Given the description of an element on the screen output the (x, y) to click on. 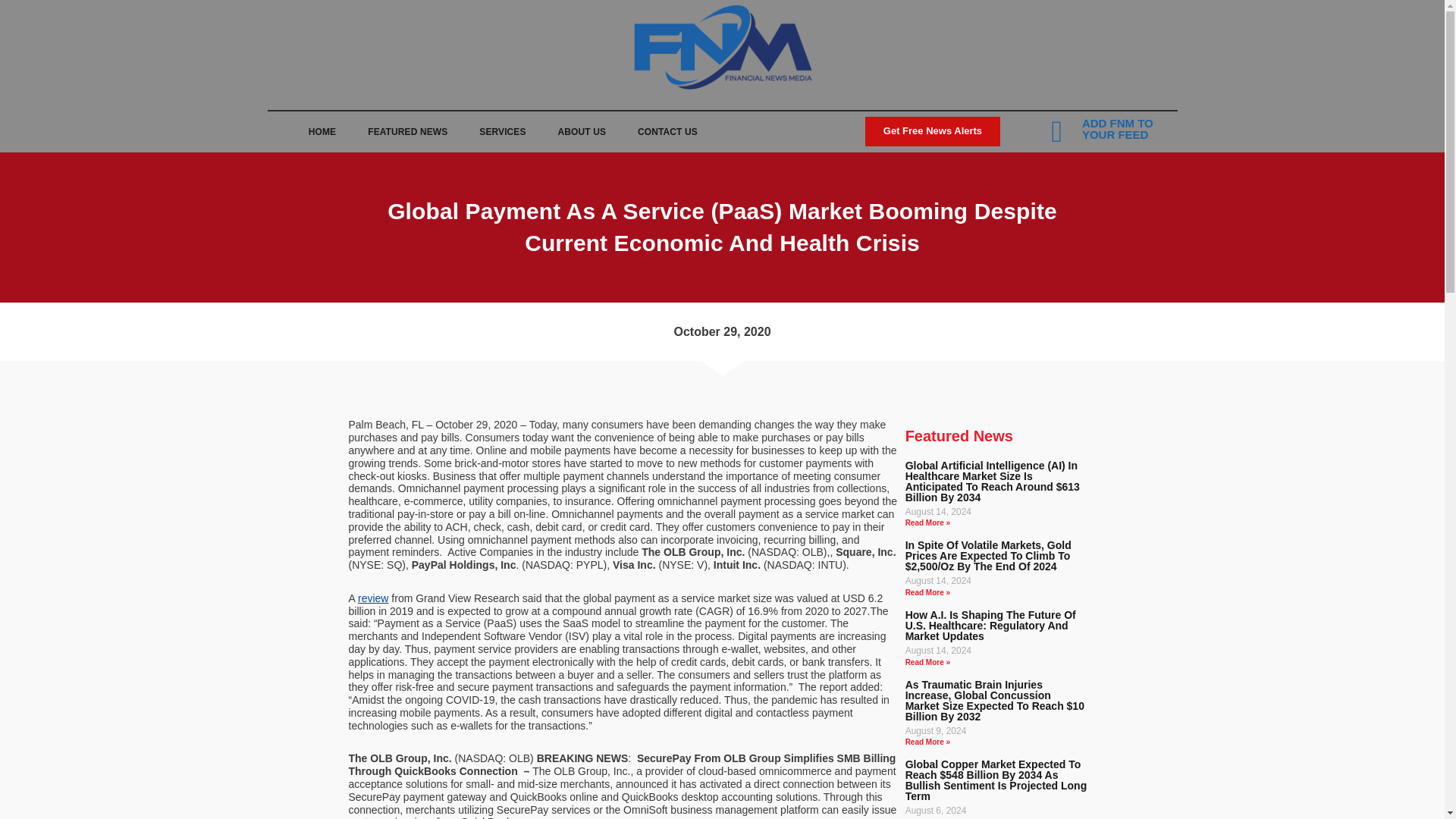
SERVICES (502, 132)
FEATURED NEWS (407, 132)
CONTACT US (667, 132)
review (373, 598)
HOME (322, 132)
Get Free News Alerts (932, 131)
ADD FNM TO YOUR FEED (1117, 128)
ABOUT US (581, 132)
October 29, 2020 (721, 331)
